Given the description of an element on the screen output the (x, y) to click on. 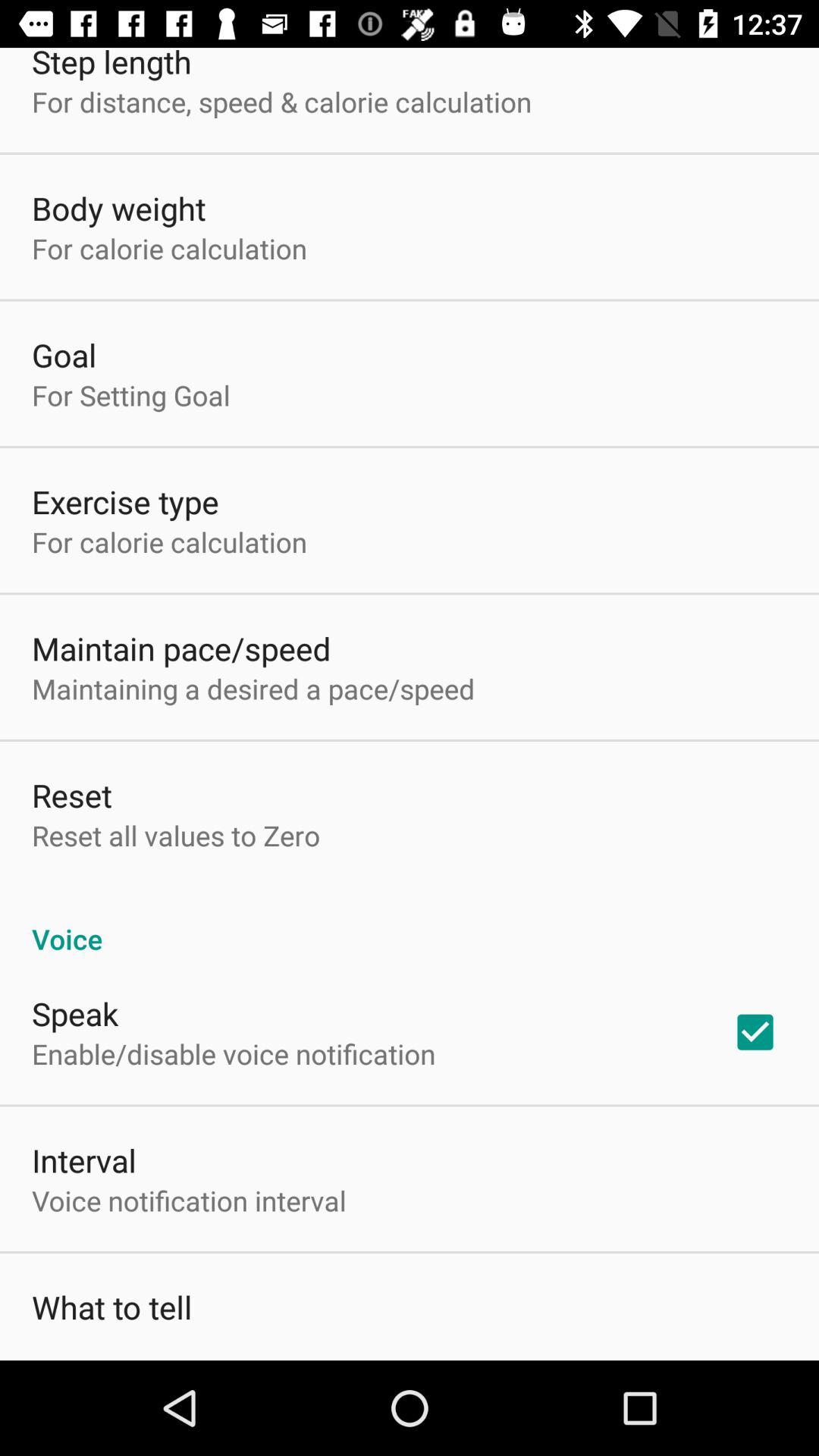
swipe until reset all values (175, 835)
